Given the description of an element on the screen output the (x, y) to click on. 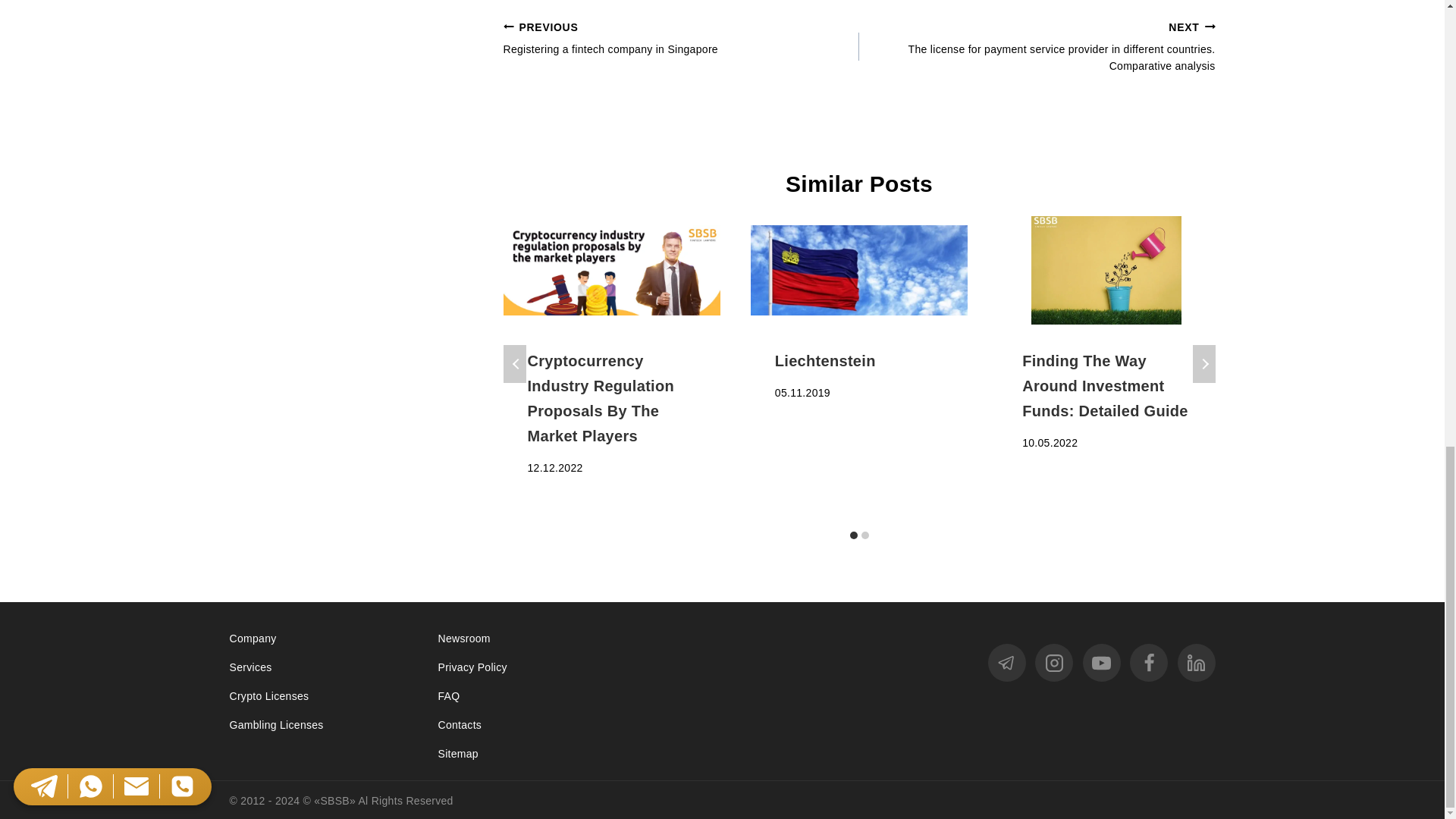
Liechtenstein (859, 270)
Finding the Way around Investment Funds: Detailed Guide (1105, 270)
